Given the description of an element on the screen output the (x, y) to click on. 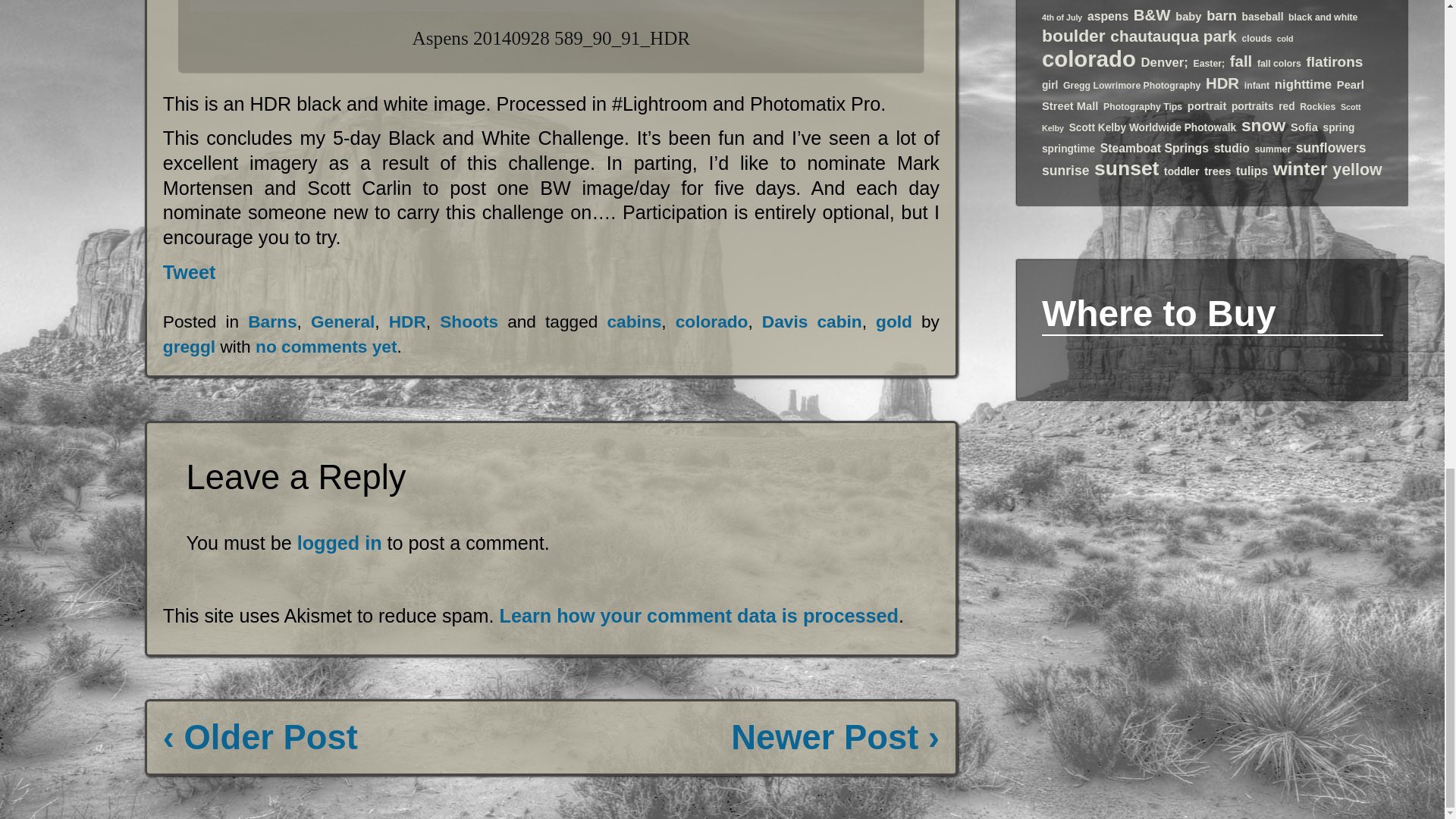
barn (1221, 15)
Posts by greggl (189, 346)
no comments yet (326, 346)
4th of July (1061, 17)
Tweet (189, 271)
HDR (407, 321)
logged in (339, 542)
Barns (272, 321)
gold (894, 321)
Shoots (468, 321)
Davis cabin (811, 321)
aspens (1107, 15)
colorado (711, 321)
General (342, 321)
cabins (634, 321)
